Given the description of an element on the screen output the (x, y) to click on. 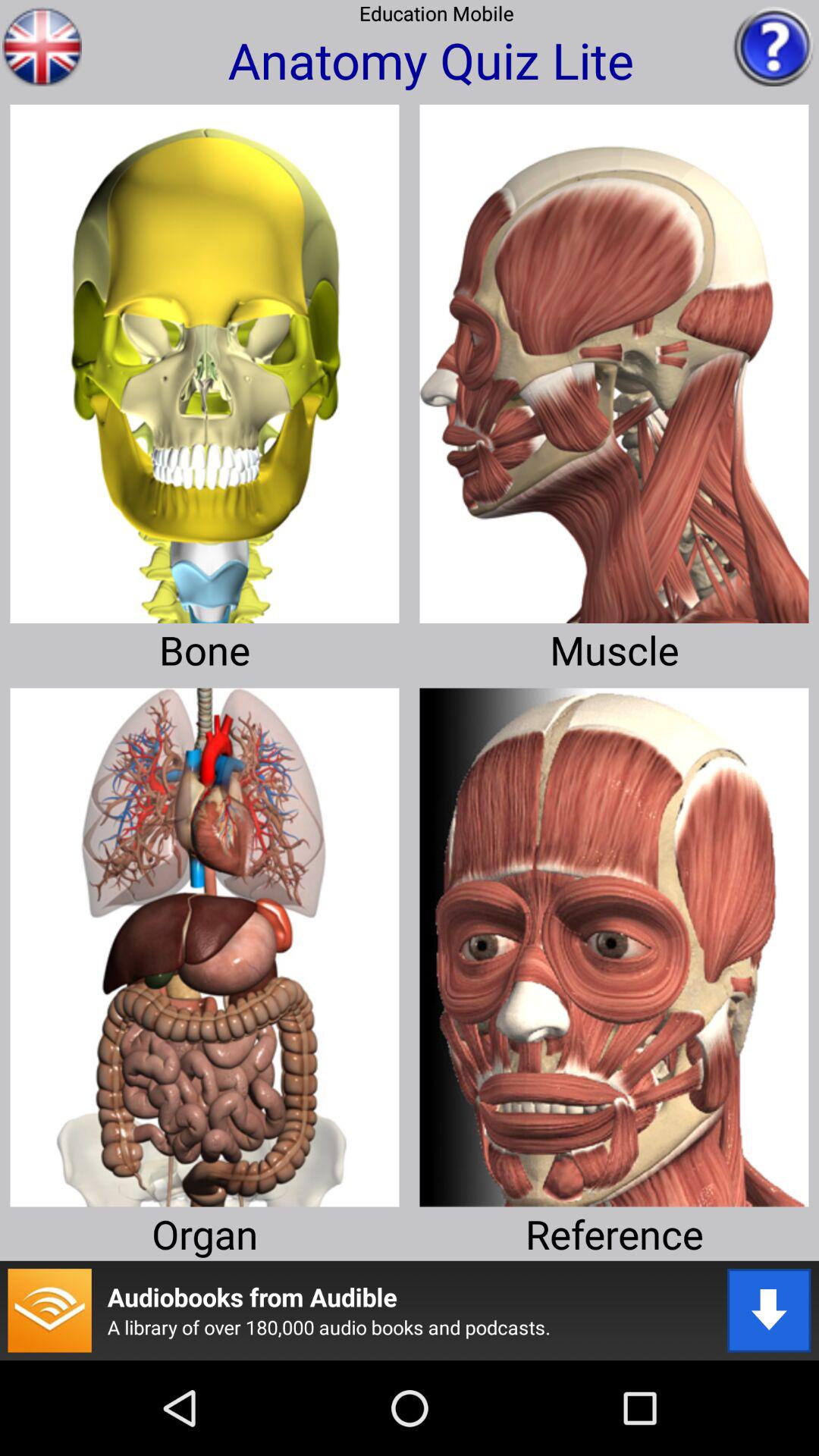
take me to organ quiz (204, 941)
